Given the description of an element on the screen output the (x, y) to click on. 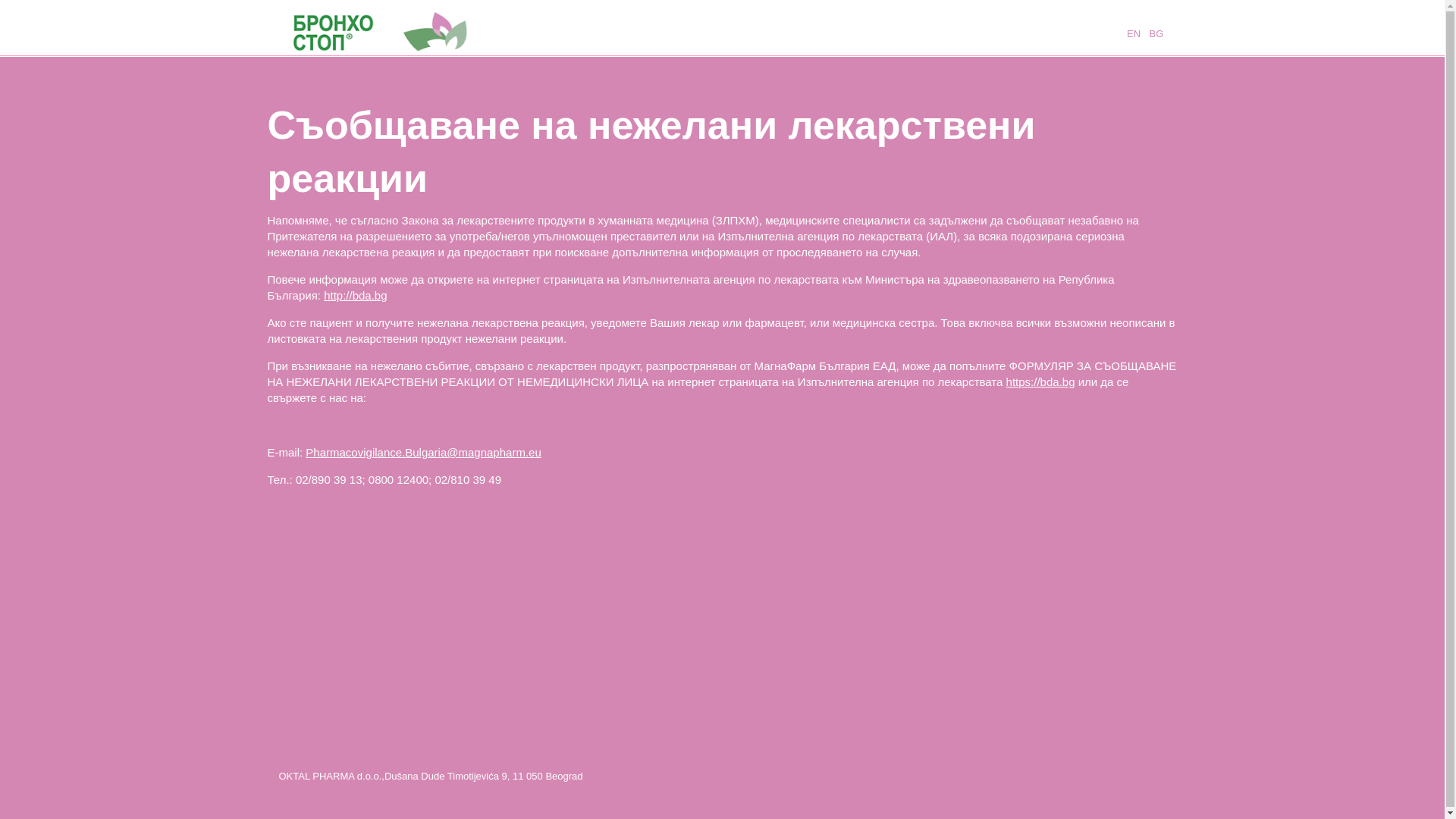
https://bda.bg Element type: text (1040, 381)
BG Element type: text (1155, 33)
Pharmacovigilance.Bulgaria@magnapharm.eu Element type: text (422, 451)
http://bda.bg Element type: text (354, 294)
EN Element type: text (1132, 33)
